Given the description of an element on the screen output the (x, y) to click on. 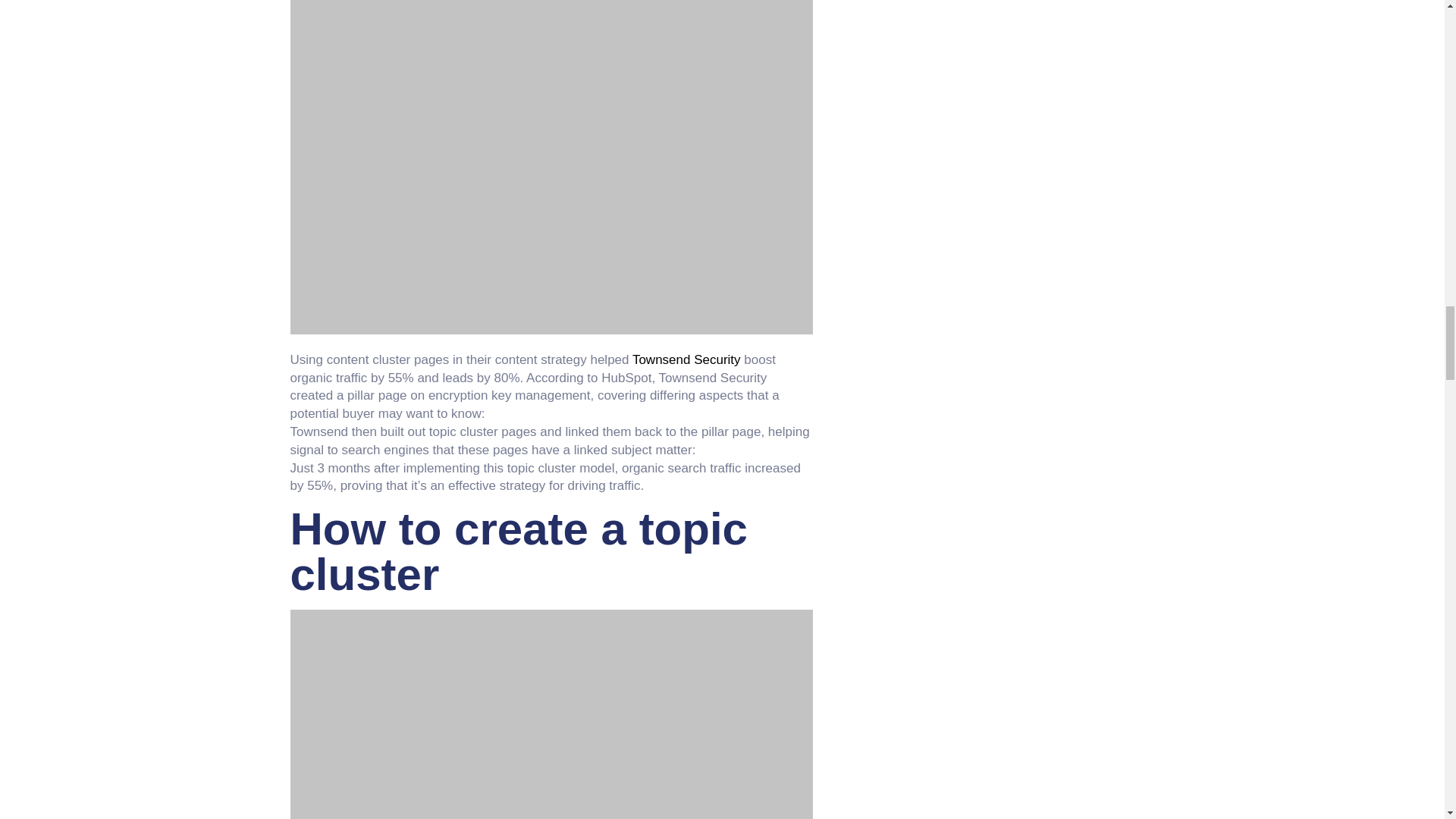
Townsend Security (686, 359)
